Given the description of an element on the screen output the (x, y) to click on. 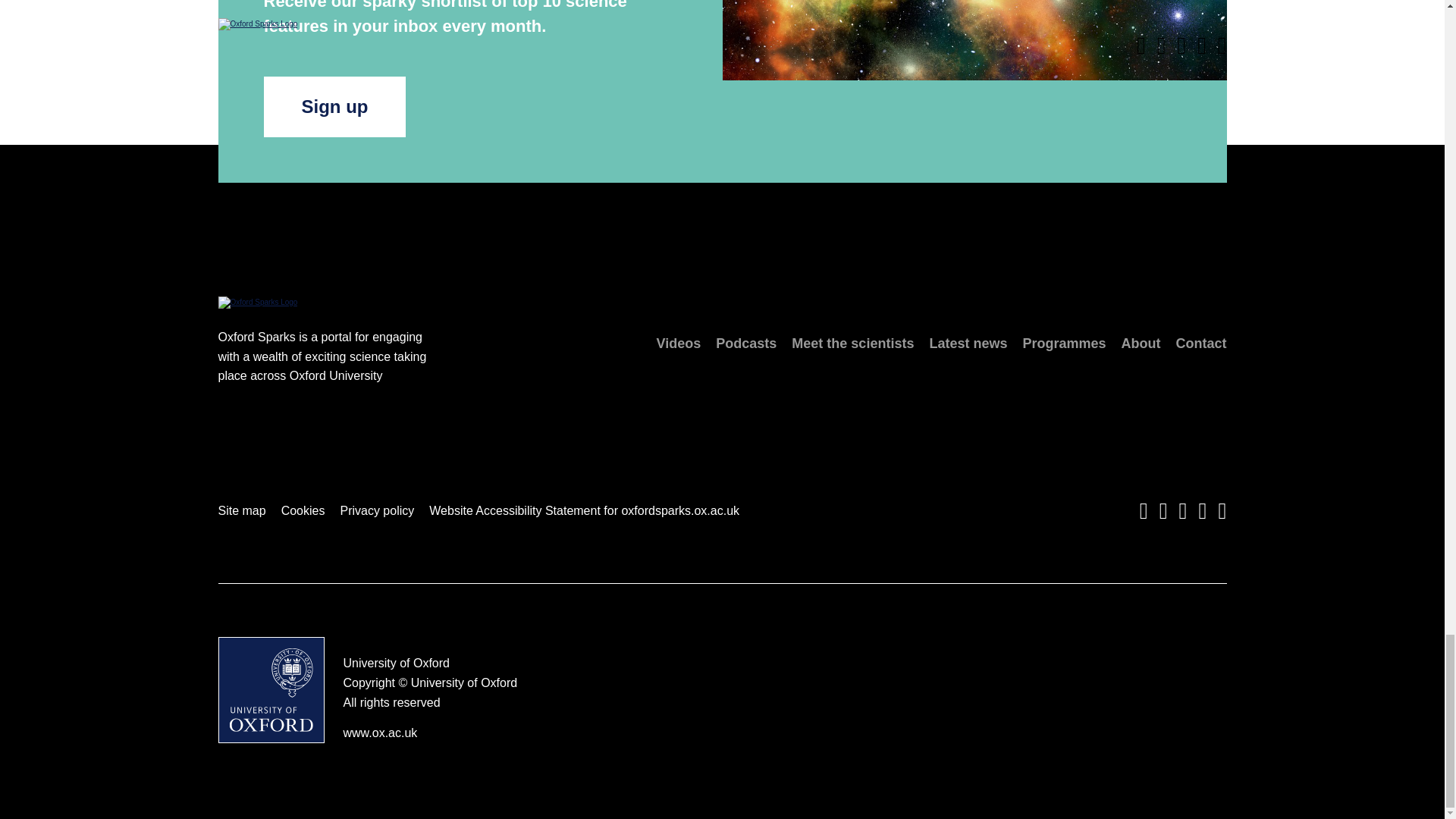
Sign up (334, 106)
Privacy policy (376, 510)
Programmes (1063, 343)
Podcasts (746, 343)
About (1140, 343)
Latest news (967, 343)
Cookies (302, 510)
Videos (678, 343)
Oxford Sparks (258, 302)
Contact (1199, 343)
Site map (242, 510)
Website Accessibility Statement for oxfordsparks.ox.ac.uk (584, 510)
Meet the scientists (853, 343)
